Given the description of an element on the screen output the (x, y) to click on. 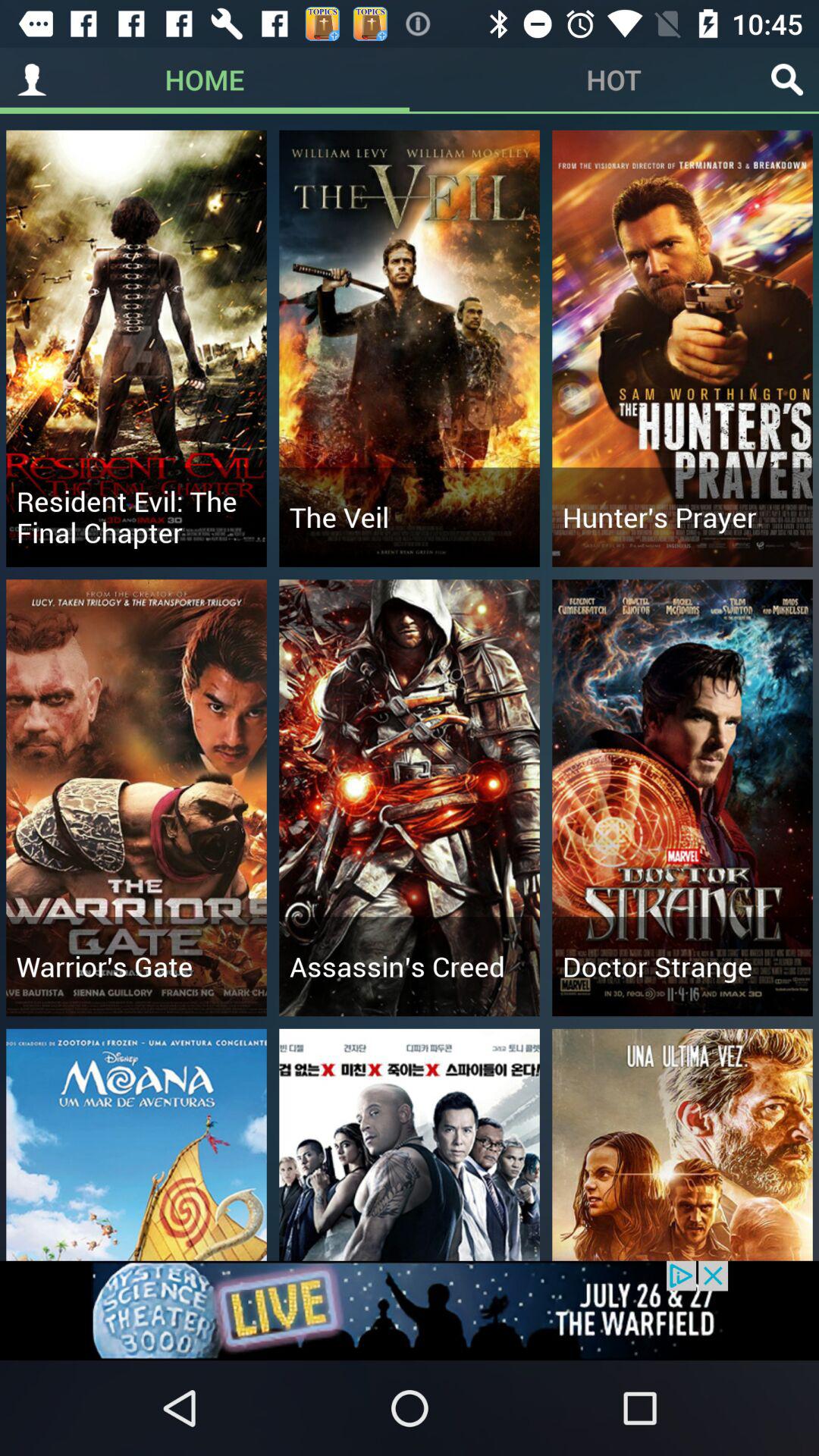
search (787, 79)
